Given the description of an element on the screen output the (x, y) to click on. 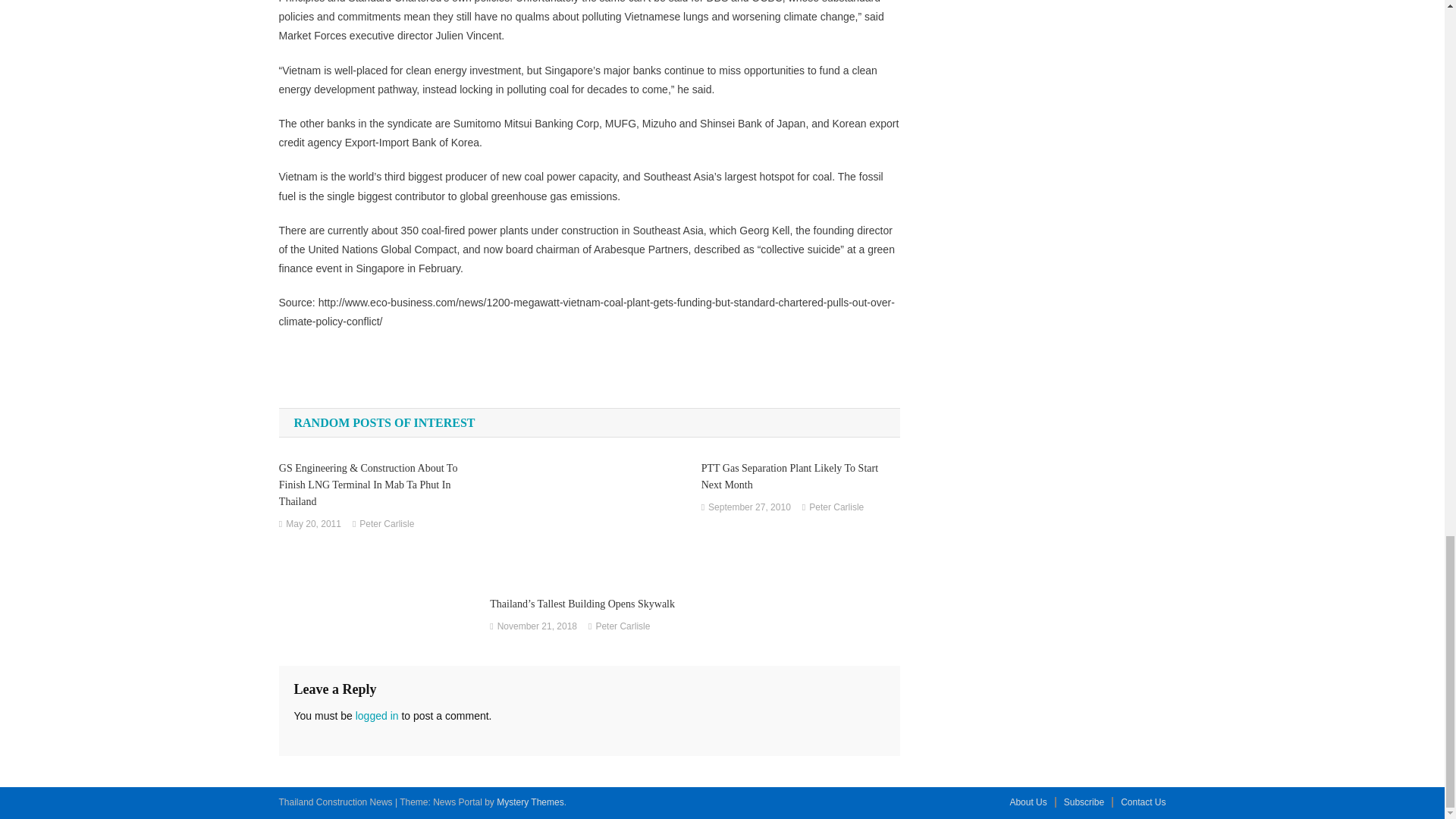
Peter Carlisle (386, 524)
May 20, 2011 (312, 524)
November 21, 2018 (536, 627)
